Given the description of an element on the screen output the (x, y) to click on. 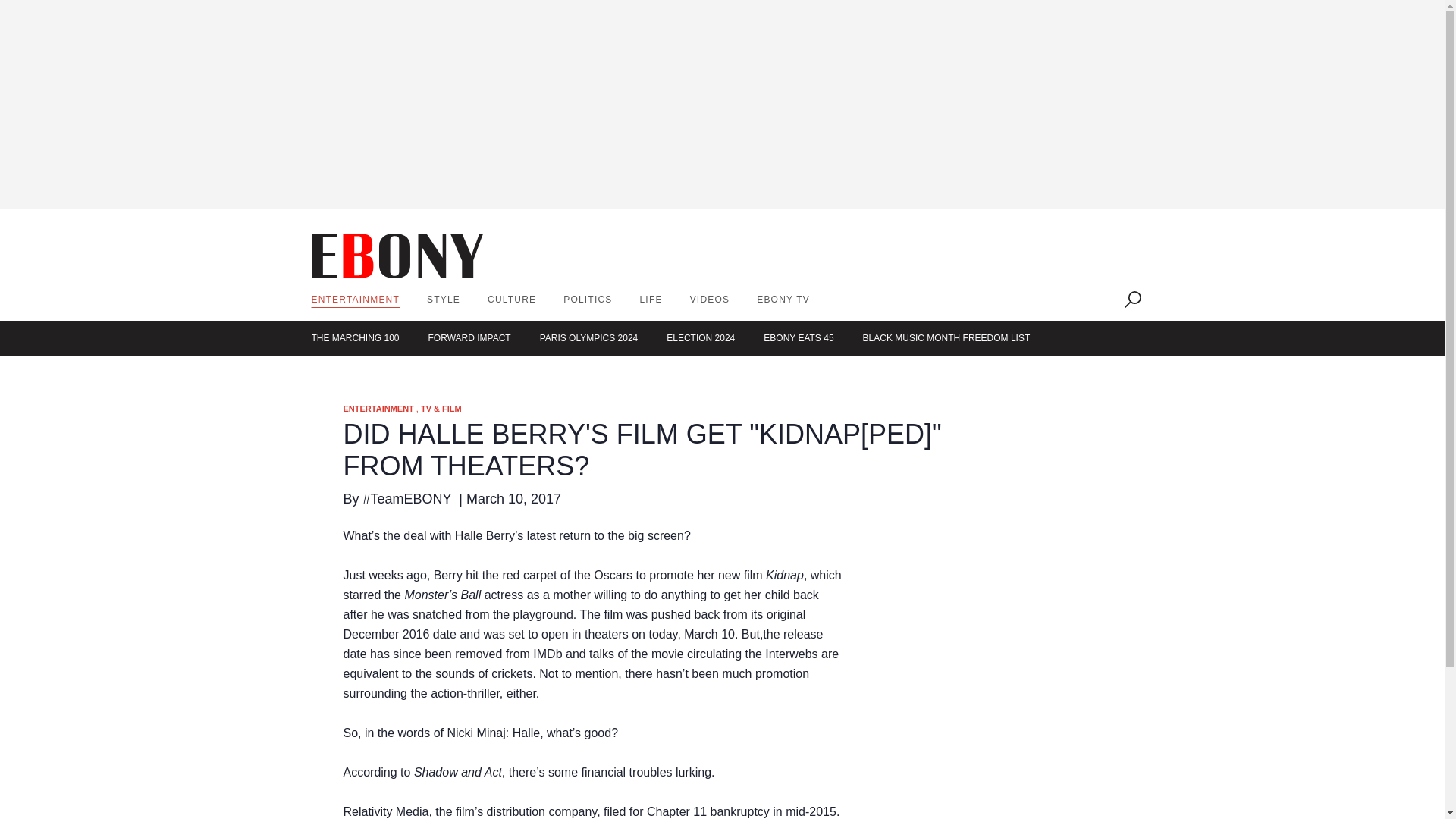
Entertainment (354, 299)
STYLE (443, 299)
ENTERTAINMENT (354, 299)
CULTURE (511, 299)
Culture (511, 299)
EBONY TV (783, 299)
POLITICS (587, 299)
Style (443, 299)
LIFE (650, 299)
VIDEOS (710, 299)
